Given the description of an element on the screen output the (x, y) to click on. 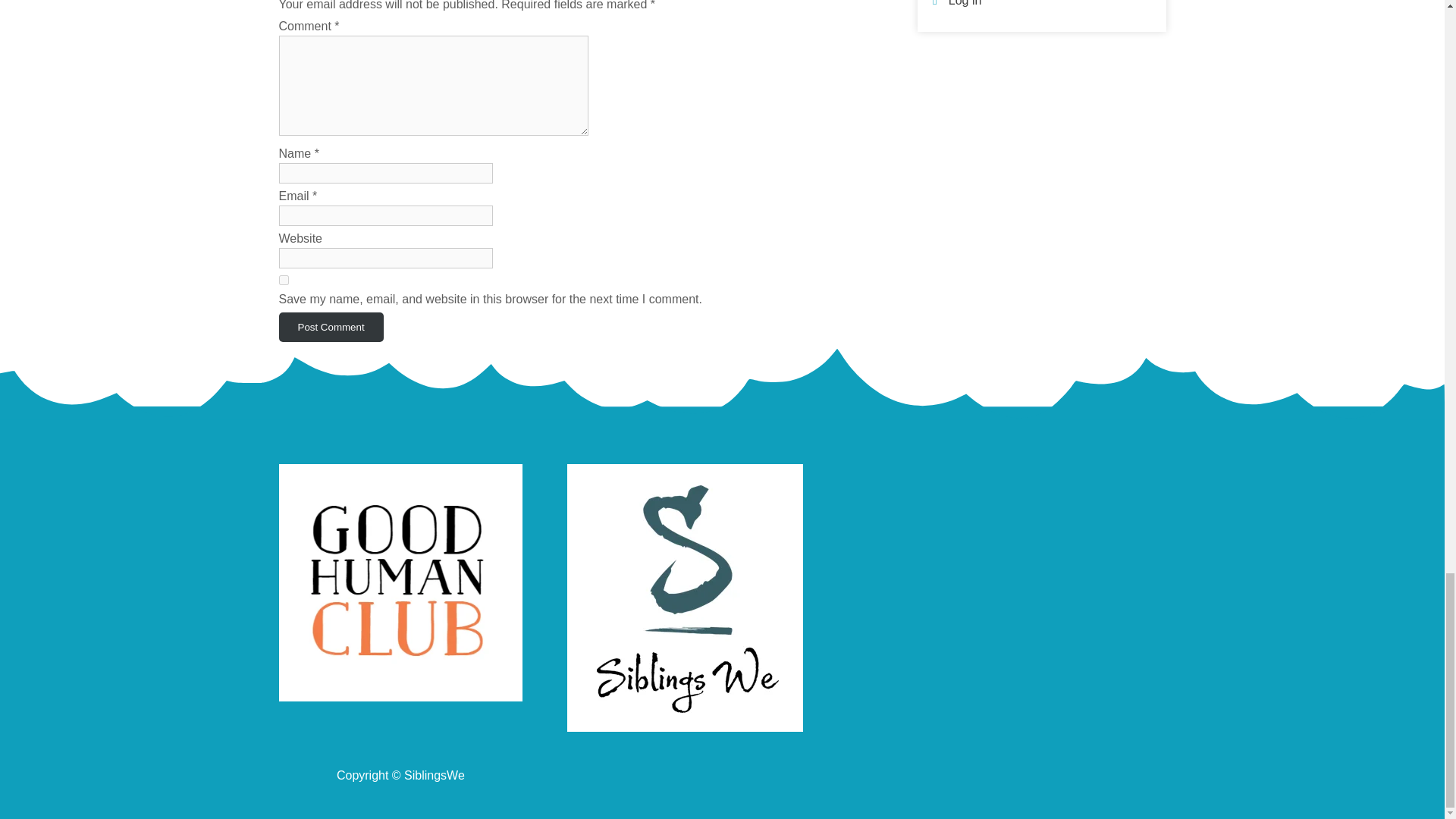
yes (283, 280)
Post Comment (331, 327)
Post Comment (331, 327)
